Given the description of an element on the screen output the (x, y) to click on. 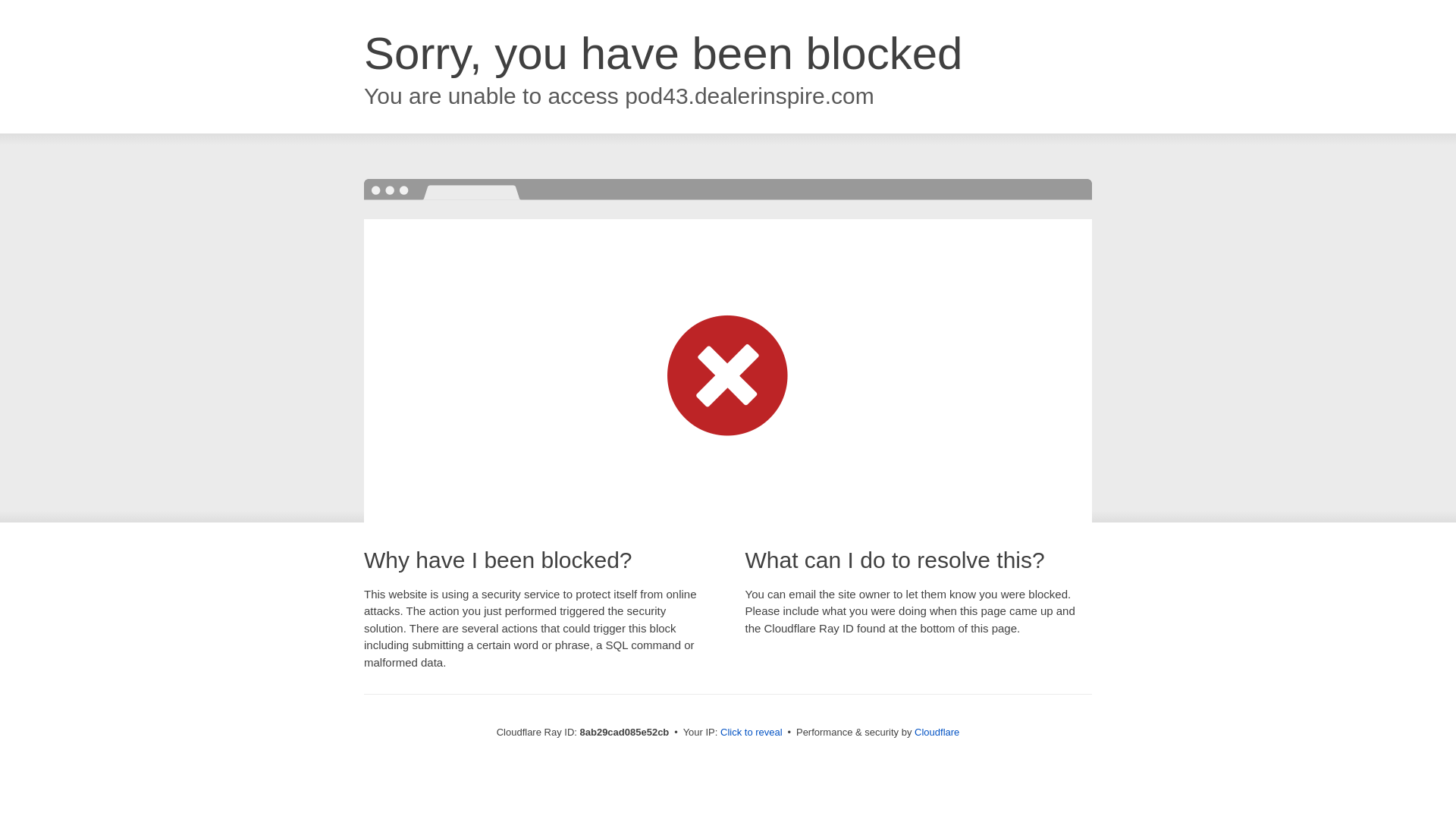
Cloudflare (936, 731)
Click to reveal (751, 732)
